Given the description of an element on the screen output the (x, y) to click on. 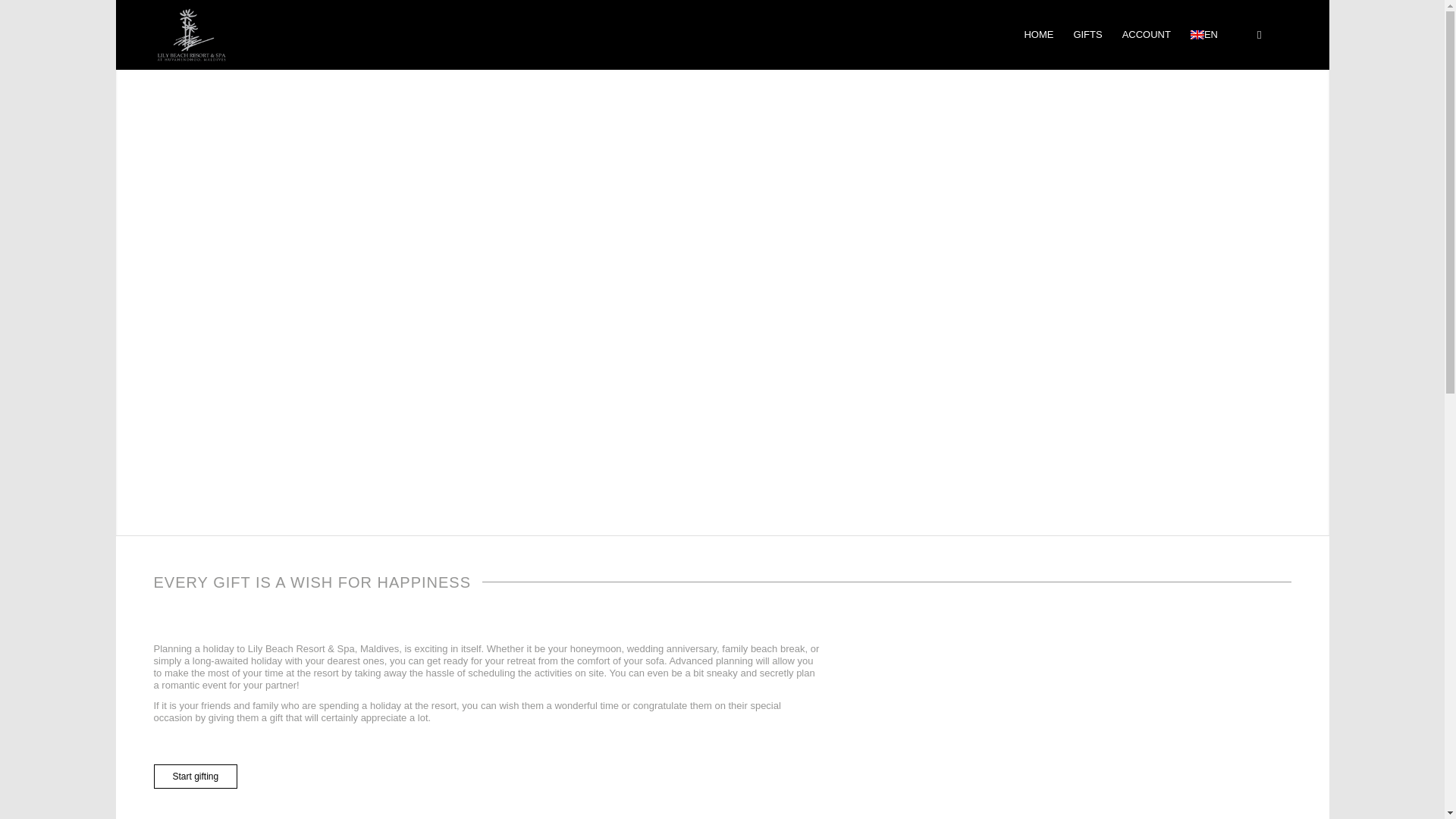
English (1197, 34)
ACCOUNT (1146, 34)
Start gifting (194, 776)
